Given the description of an element on the screen output the (x, y) to click on. 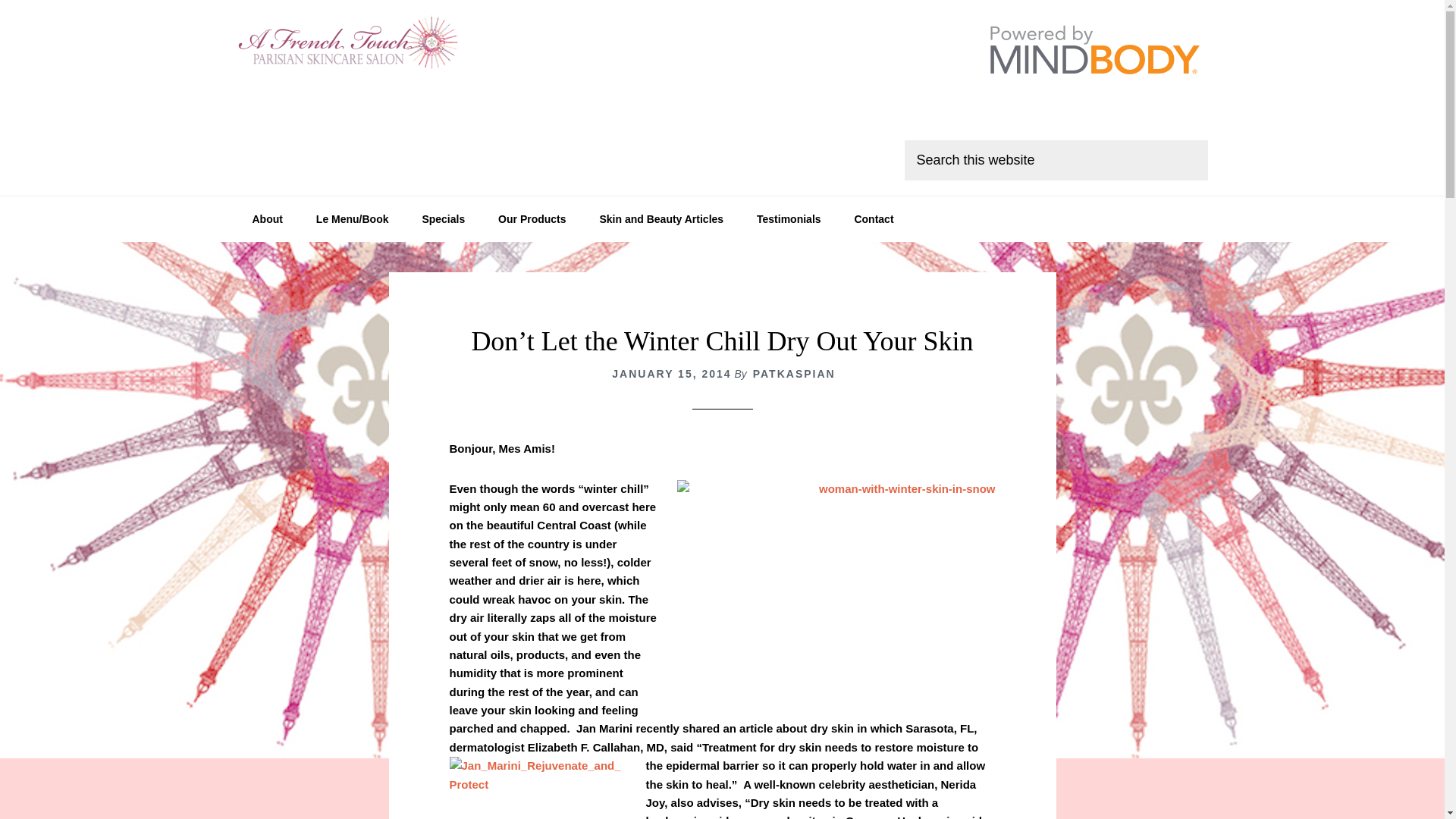
Contact (873, 218)
Our Products (531, 218)
About (266, 218)
PATKASPIAN (793, 373)
Skin and Beauty Articles (660, 218)
A French Touch Salon (349, 45)
